Given the description of an element on the screen output the (x, y) to click on. 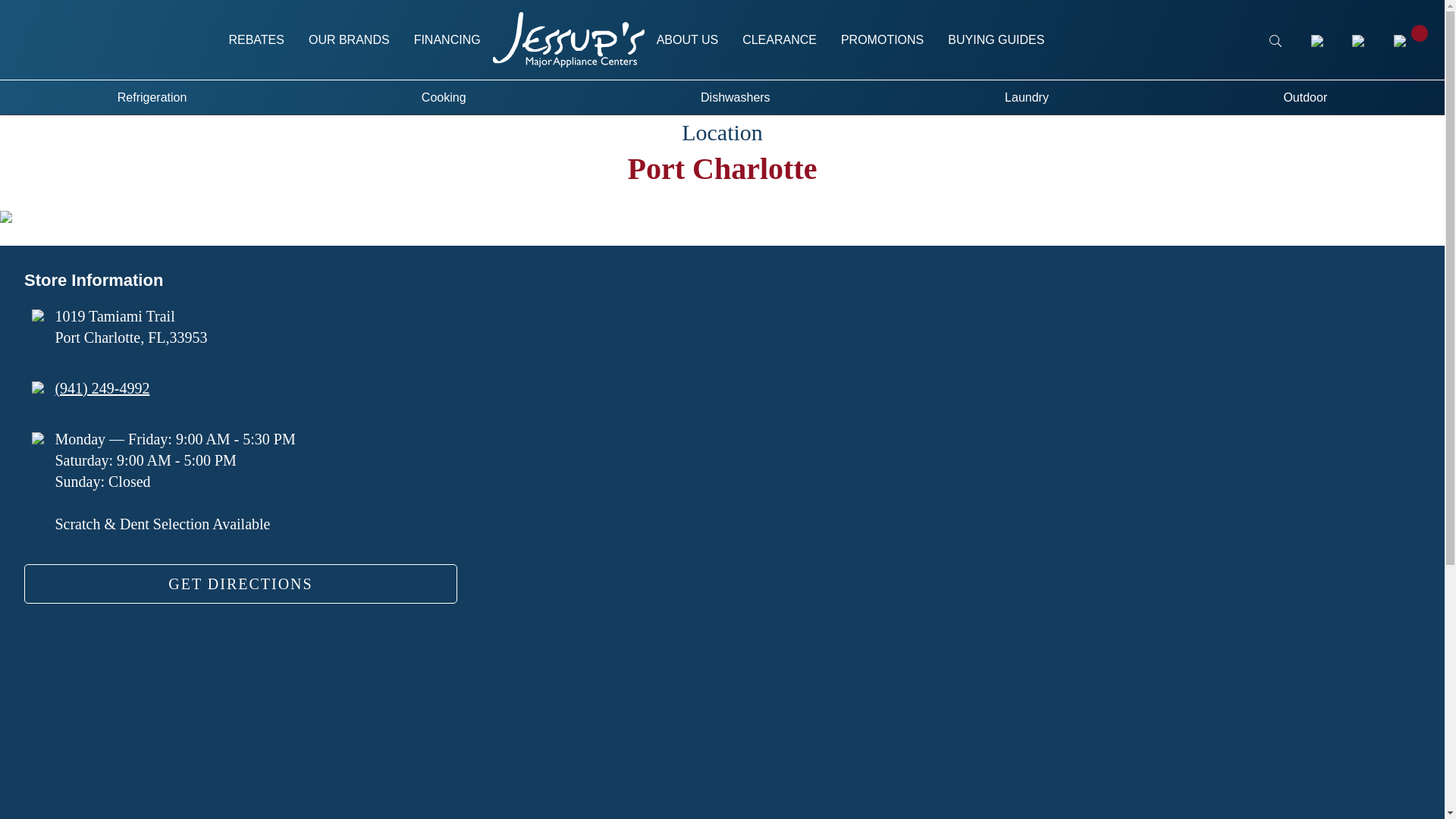
ABOUT US (687, 39)
REBATES (256, 39)
Dishwashers (735, 97)
PROMOTIONS (882, 39)
OUR BRANDS (349, 39)
Refrigeration (151, 97)
BUYING GUIDES (996, 39)
FINANCING (447, 39)
CLEARANCE (779, 39)
Cooking (442, 97)
